Given the description of an element on the screen output the (x, y) to click on. 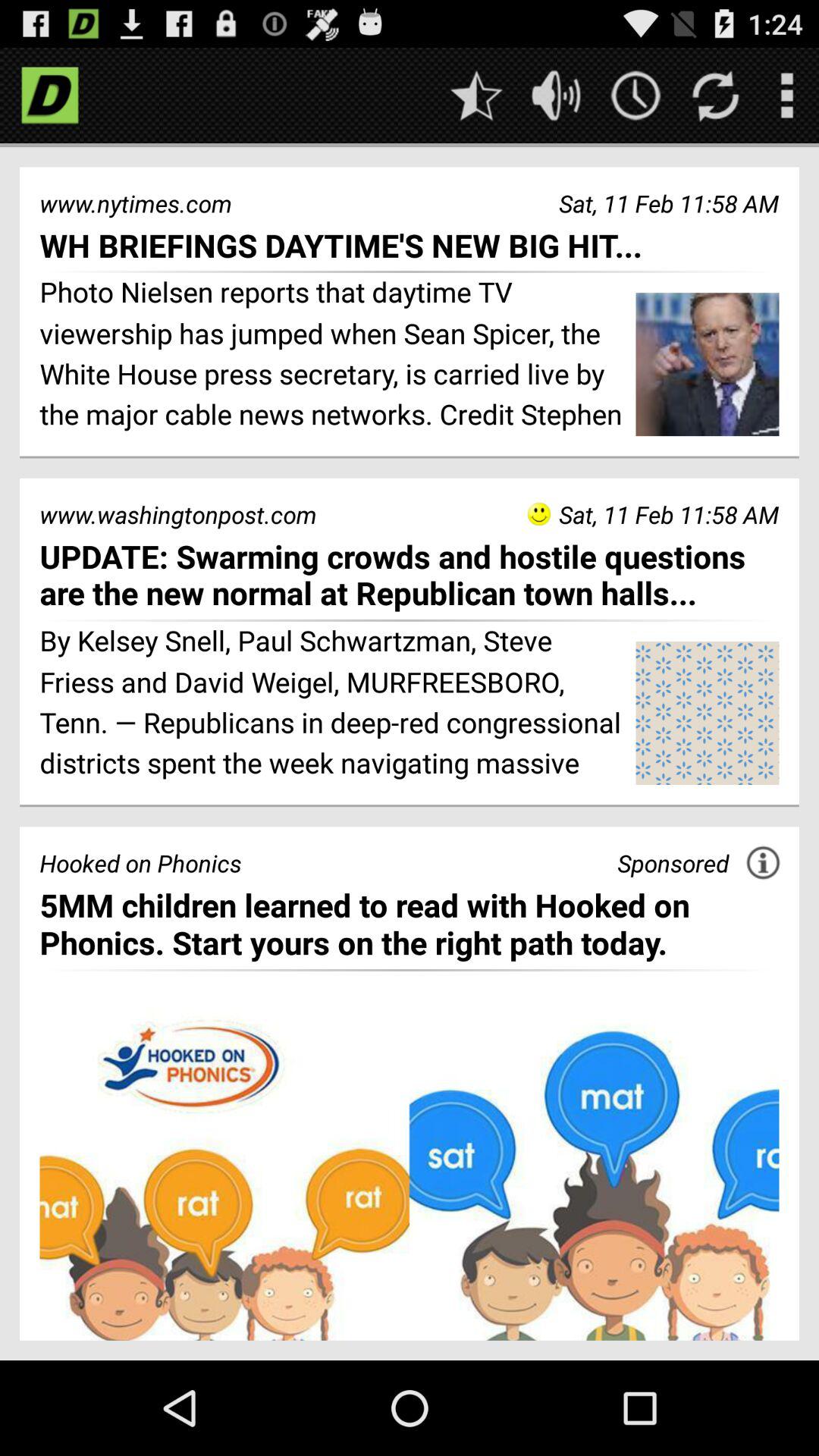
turn off the app next to the hooked on phonics (673, 862)
